Given the description of an element on the screen output the (x, y) to click on. 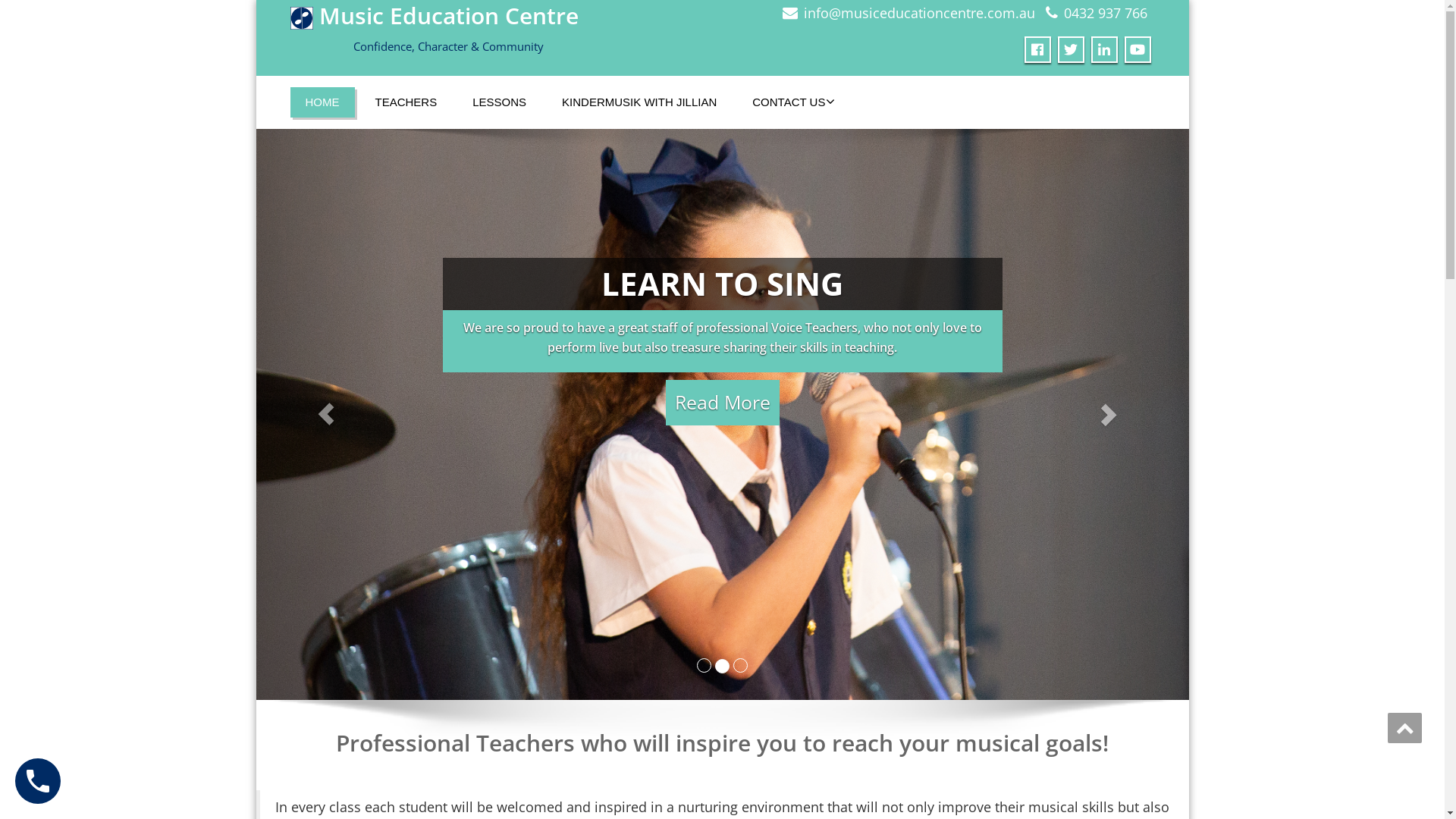
info@musiceducationcentre.com.au Element type: text (919, 12)
Music Education Centre Element type: text (433, 15)
Read More Element type: text (722, 402)
HOME Element type: text (321, 102)
KINDERMUSIK WITH JILLIAN Element type: text (638, 102)
CONTACT US Element type: text (788, 102)
TEACHERS Element type: text (405, 102)
LESSONS Element type: text (499, 102)
Go Top Element type: hover (1404, 727)
